Given the description of an element on the screen output the (x, y) to click on. 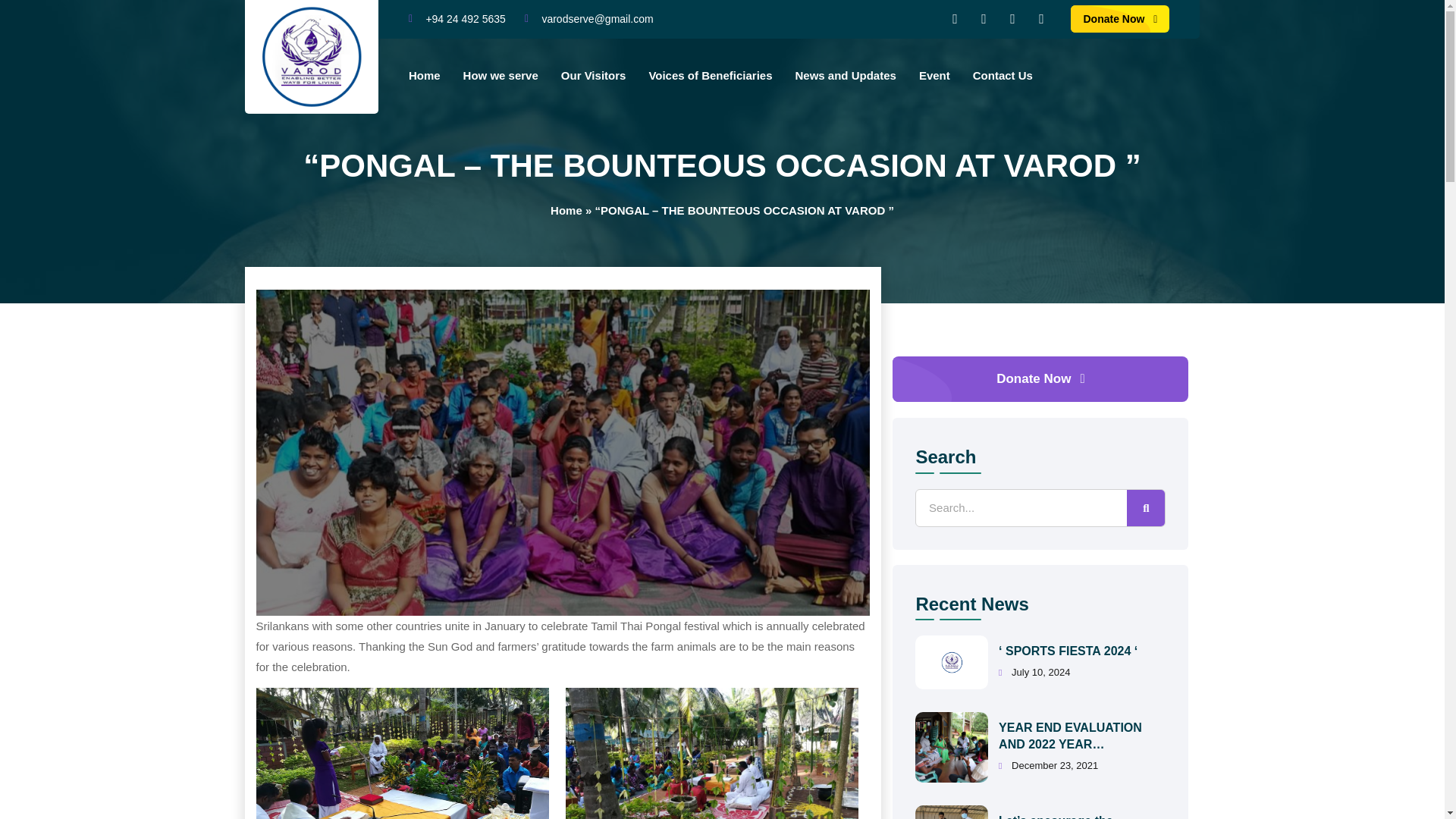
How we serve (500, 75)
Donate Now (1119, 18)
News and Updates (845, 75)
Event (934, 75)
Voices of Beneficiaries (709, 75)
Contact Us (1002, 75)
Home (425, 75)
Our Visitors (593, 75)
